Given the description of an element on the screen output the (x, y) to click on. 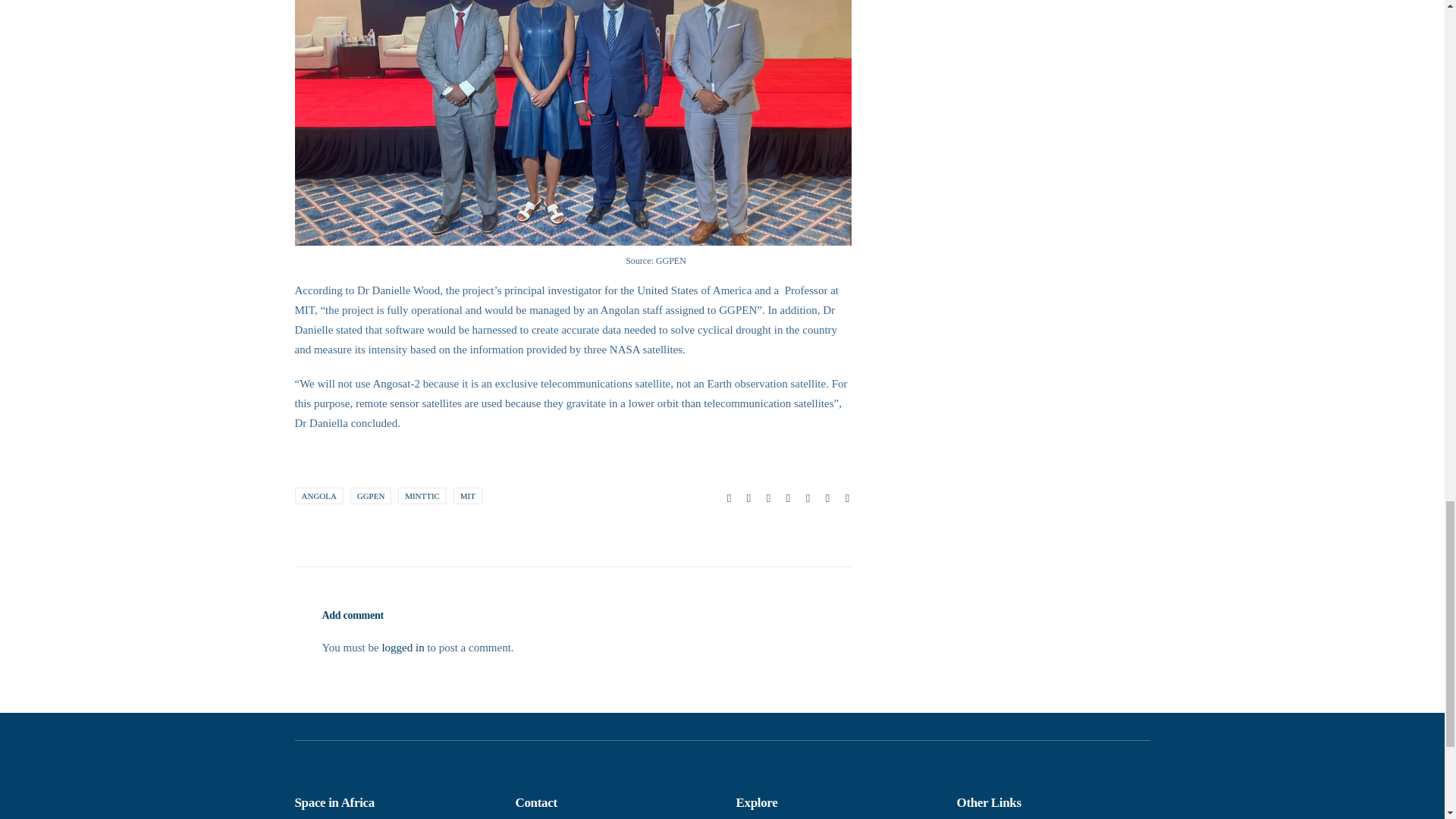
MINTTIC (421, 495)
ANGOLA (318, 495)
GGPEN (370, 495)
logged in (402, 647)
MIT (466, 495)
